Given the description of an element on the screen output the (x, y) to click on. 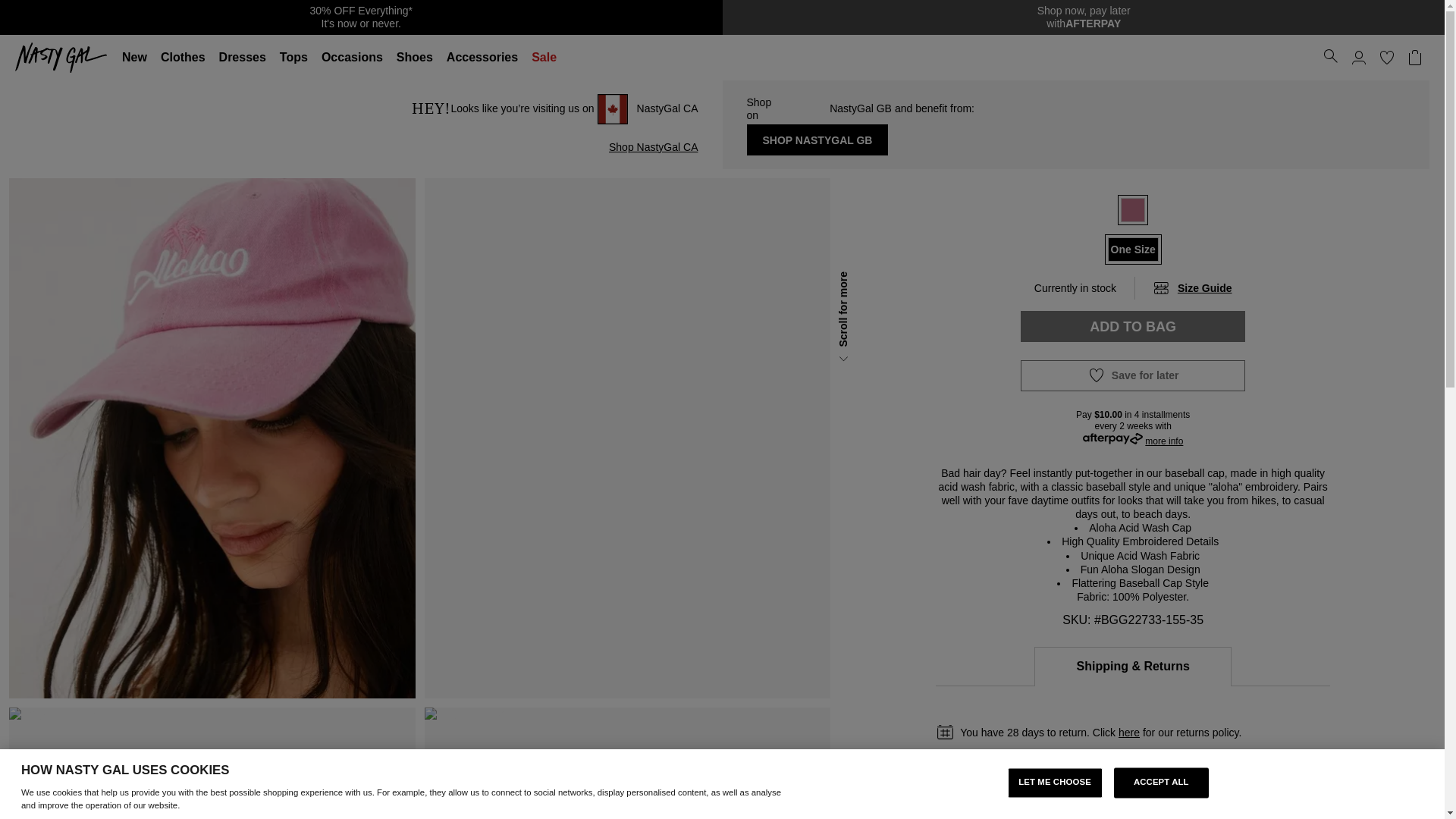
Scroll for more (1082, 17)
Clothes (1386, 57)
Search (183, 57)
Nasty Gal (1330, 55)
